Given the description of an element on the screen output the (x, y) to click on. 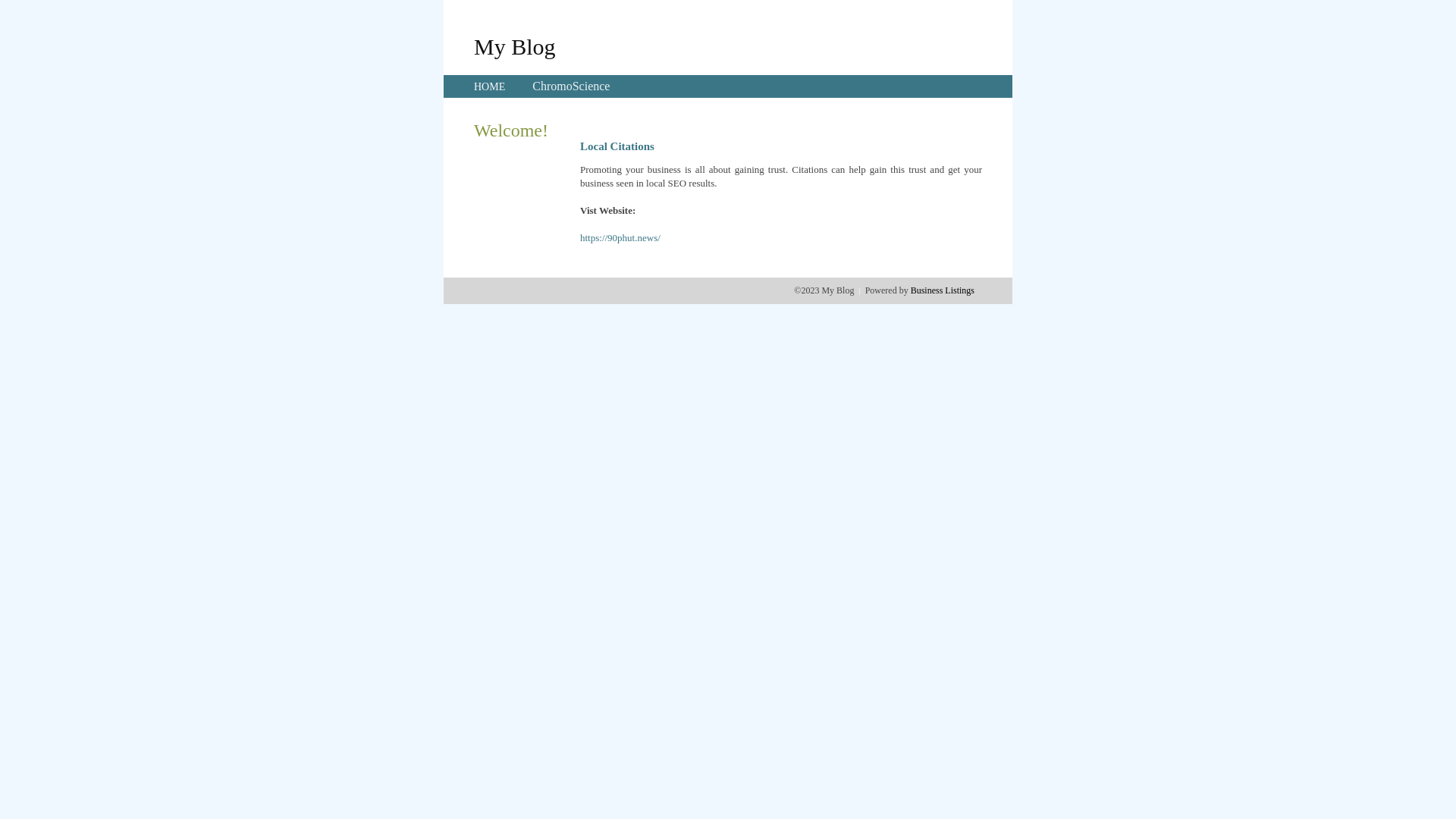
My Blog Element type: text (514, 46)
HOME Element type: text (489, 86)
https://90phut.news/ Element type: text (620, 237)
Business Listings Element type: text (942, 290)
ChromoScience Element type: text (570, 85)
